Given the description of an element on the screen output the (x, y) to click on. 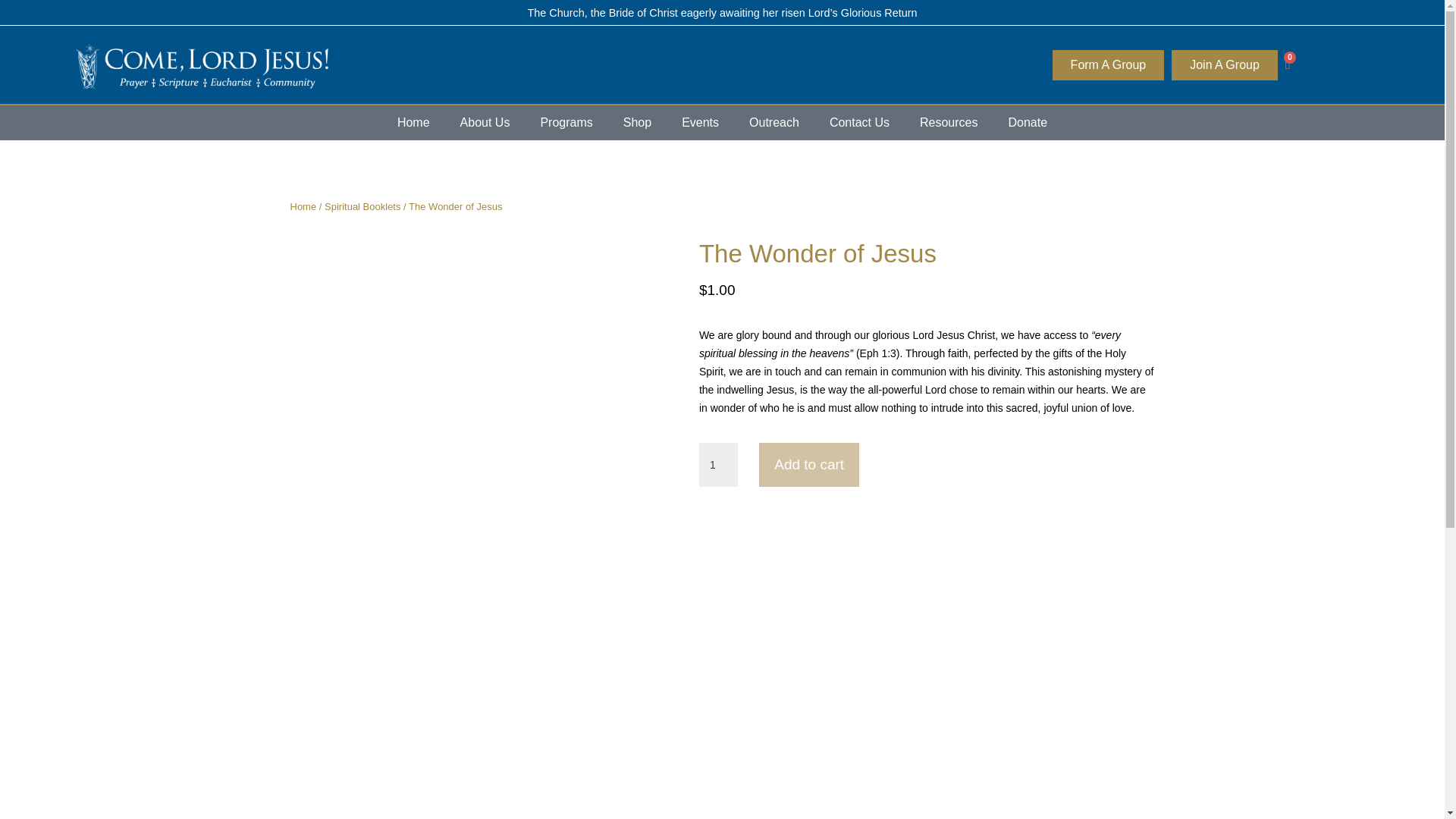
Donate (1027, 122)
Shop (637, 122)
Form A Group (1108, 64)
About Us (485, 122)
Home (413, 122)
1 (718, 464)
Events (699, 122)
Contact Us (858, 122)
Outreach (773, 122)
Programs (565, 122)
